Given the description of an element on the screen output the (x, y) to click on. 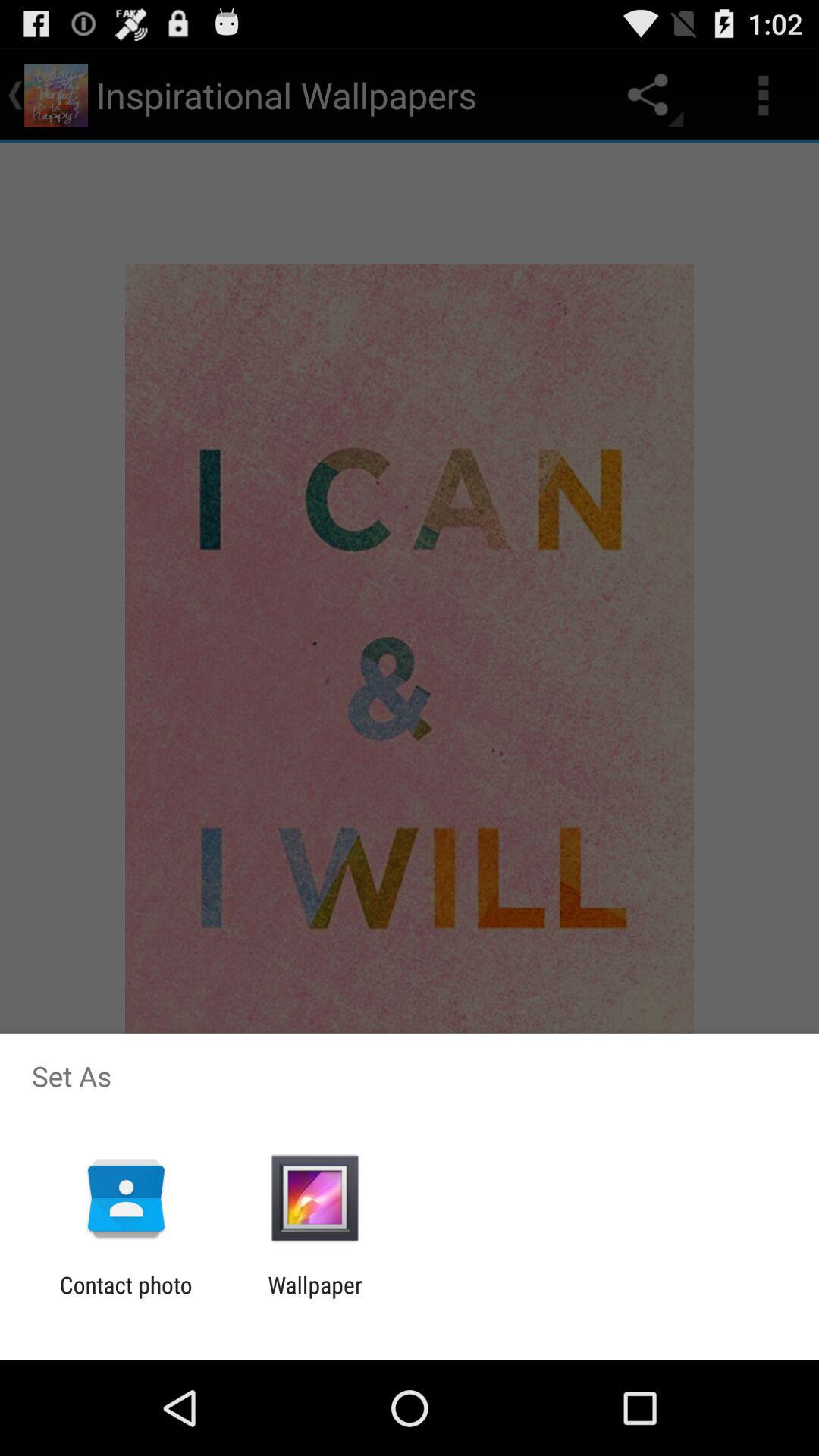
choose the icon next to the wallpaper (125, 1298)
